Given the description of an element on the screen output the (x, y) to click on. 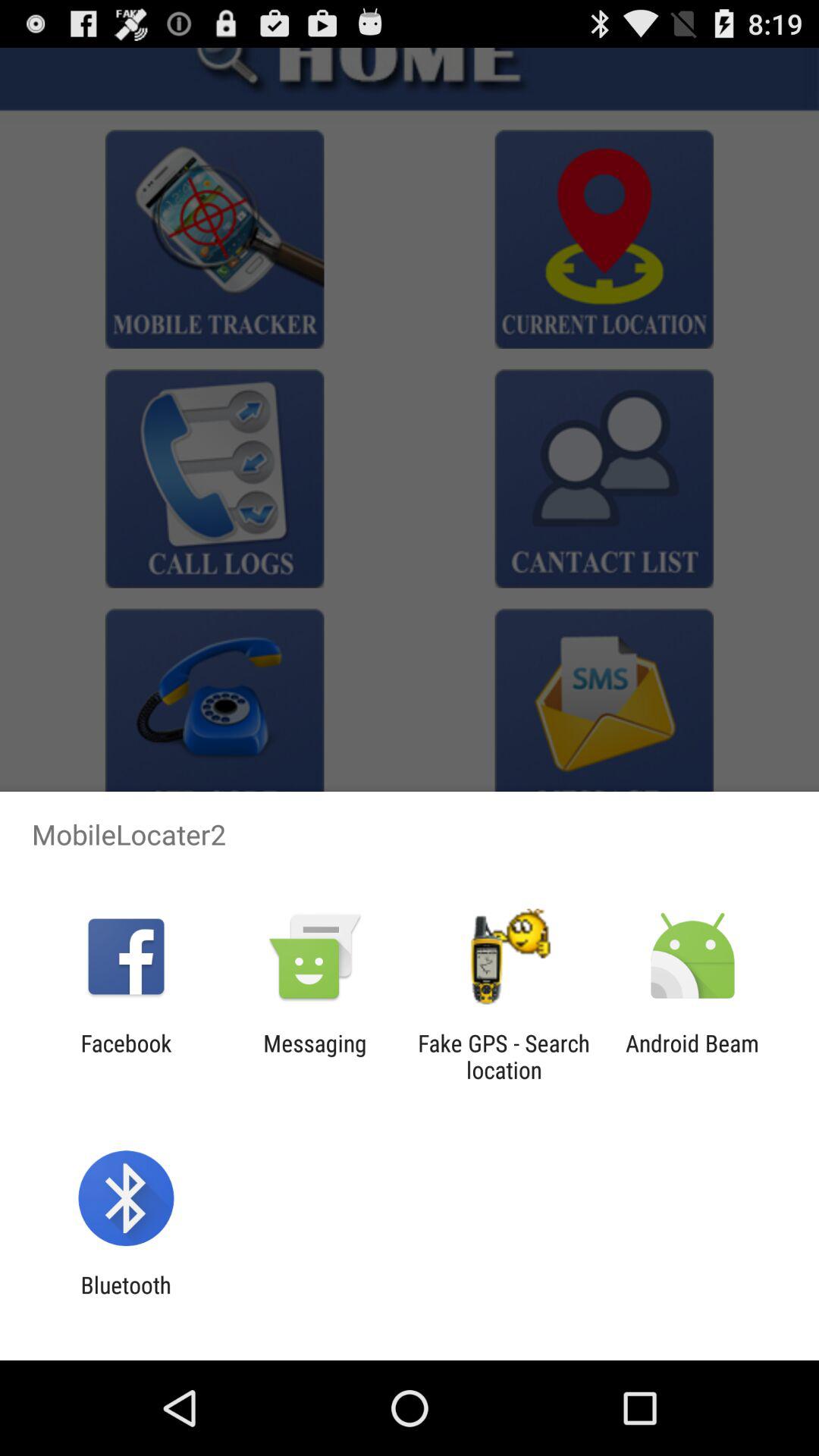
select app next to fake gps search app (692, 1056)
